Given the description of an element on the screen output the (x, y) to click on. 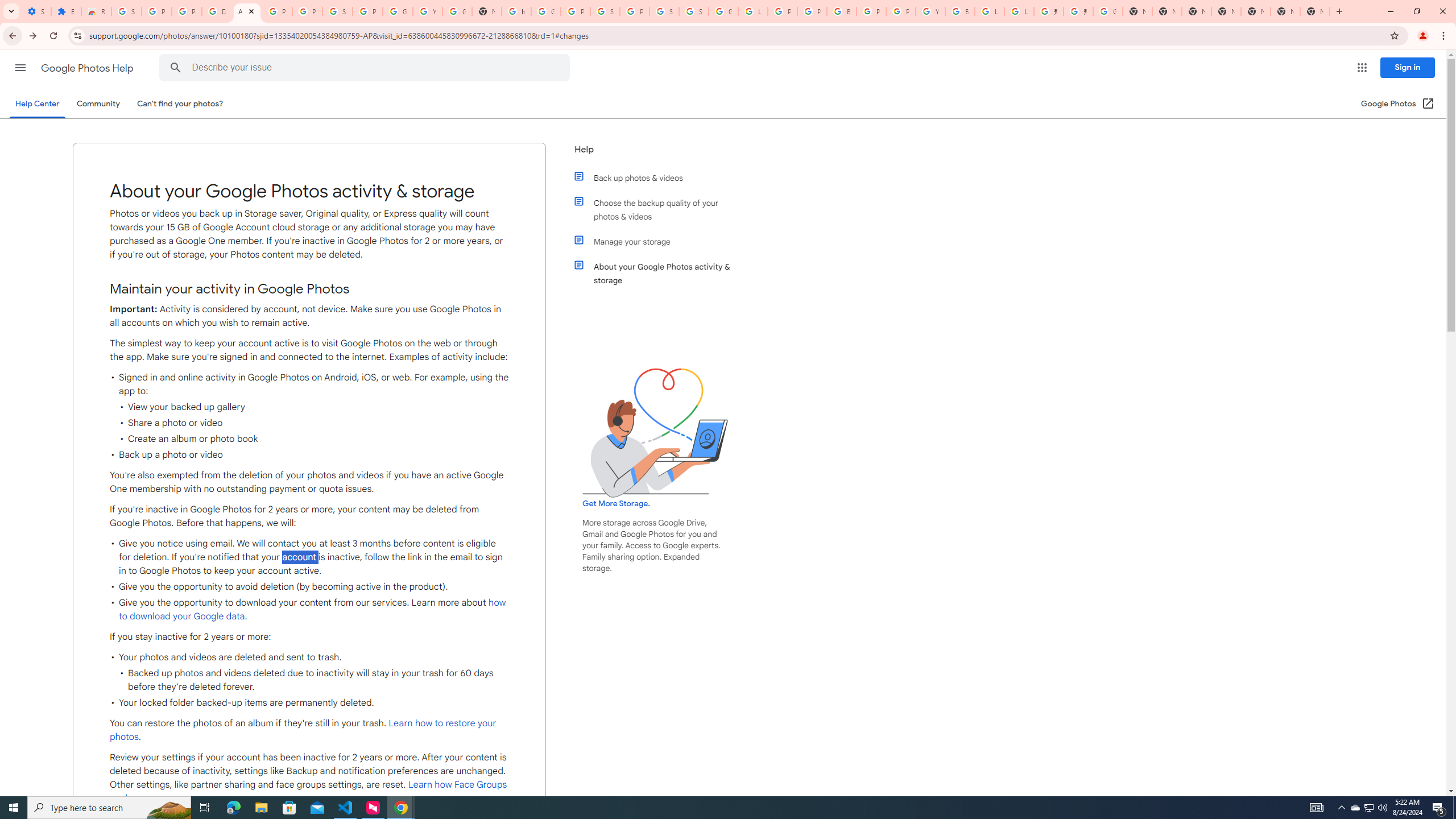
Google Photos Help (87, 68)
Google Images (1107, 11)
Can't find your photos? (180, 103)
Describe your issue (366, 67)
New Tab (1226, 11)
Learn how to restore your photos (302, 729)
Reviews: Helix Fruit Jump Arcade Game (95, 11)
Learn how Face Groups works (307, 791)
